Given the description of an element on the screen output the (x, y) to click on. 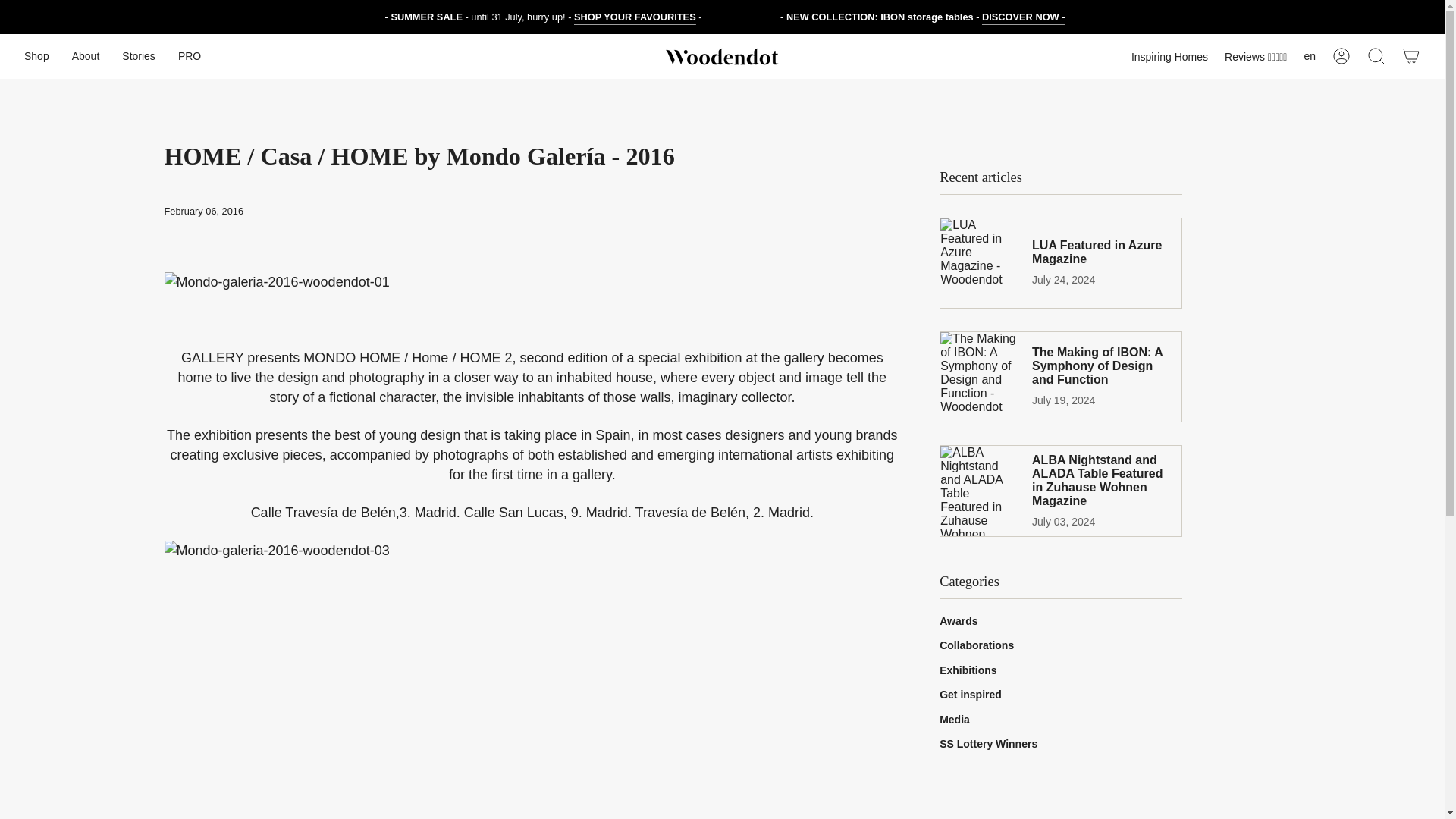
IBON (1023, 18)
Summer Sale (634, 18)
DISCOVER NOW - (1023, 18)
SHOP YOUR FAVOURITES (634, 18)
Shop (37, 56)
